Given the description of an element on the screen output the (x, y) to click on. 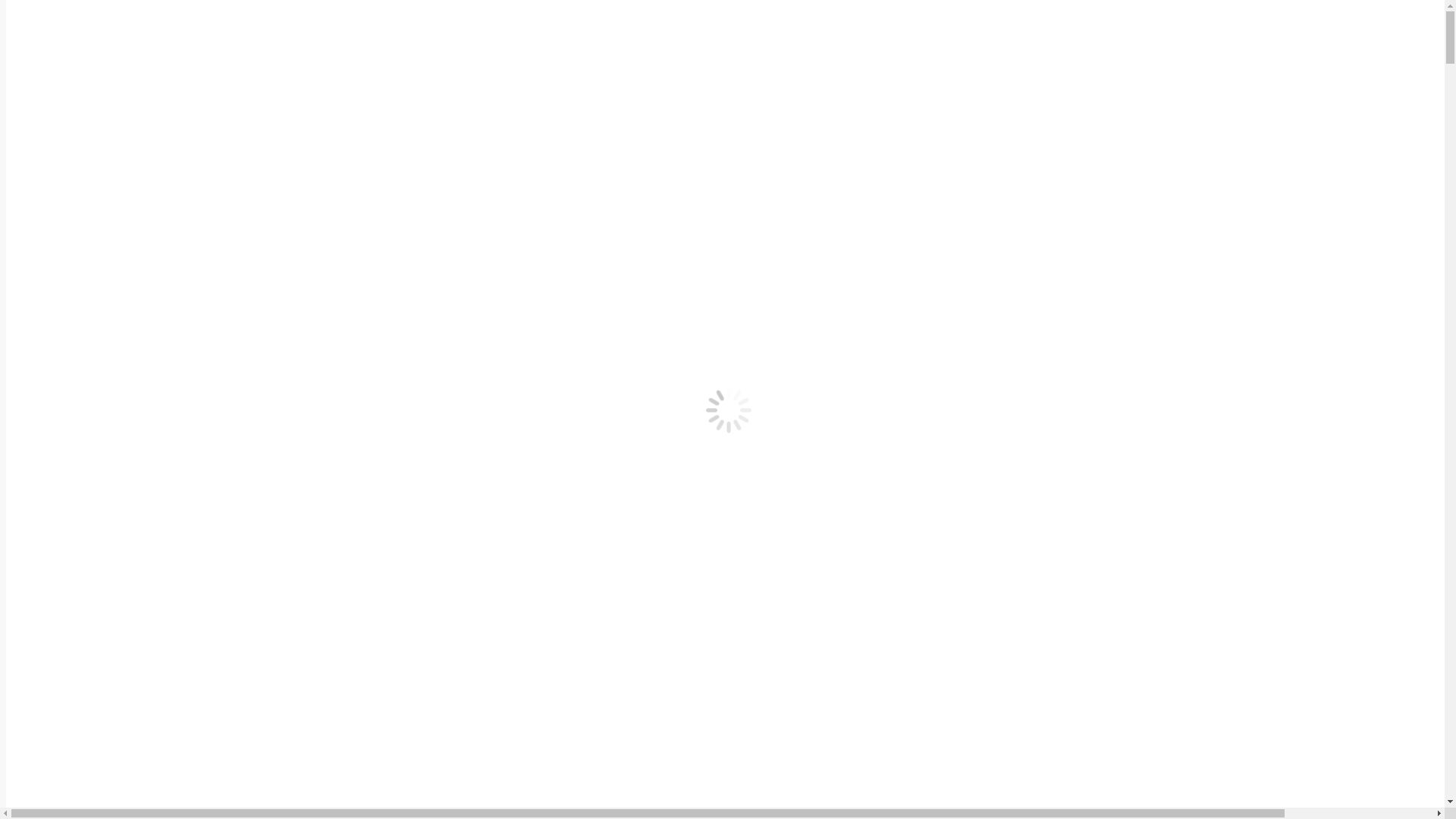
Login Element type: text (1069, 67)
Contact Element type: text (945, 36)
Contenu en pleine largeur Element type: text (722, 16)
Accueil Element type: text (734, 36)
Formation Element type: text (1006, 36)
Remise Certificats Element type: text (297, 343)
Blog Element type: text (900, 36)
Qui Sommes-nous ? Element type: text (820, 36)
Espace Membre Element type: text (1147, 33)
Enregistrer Element type: text (1082, 89)
Accueil Element type: text (68, 249)
Tout voir Element type: text (78, 343)
